Given the description of an element on the screen output the (x, y) to click on. 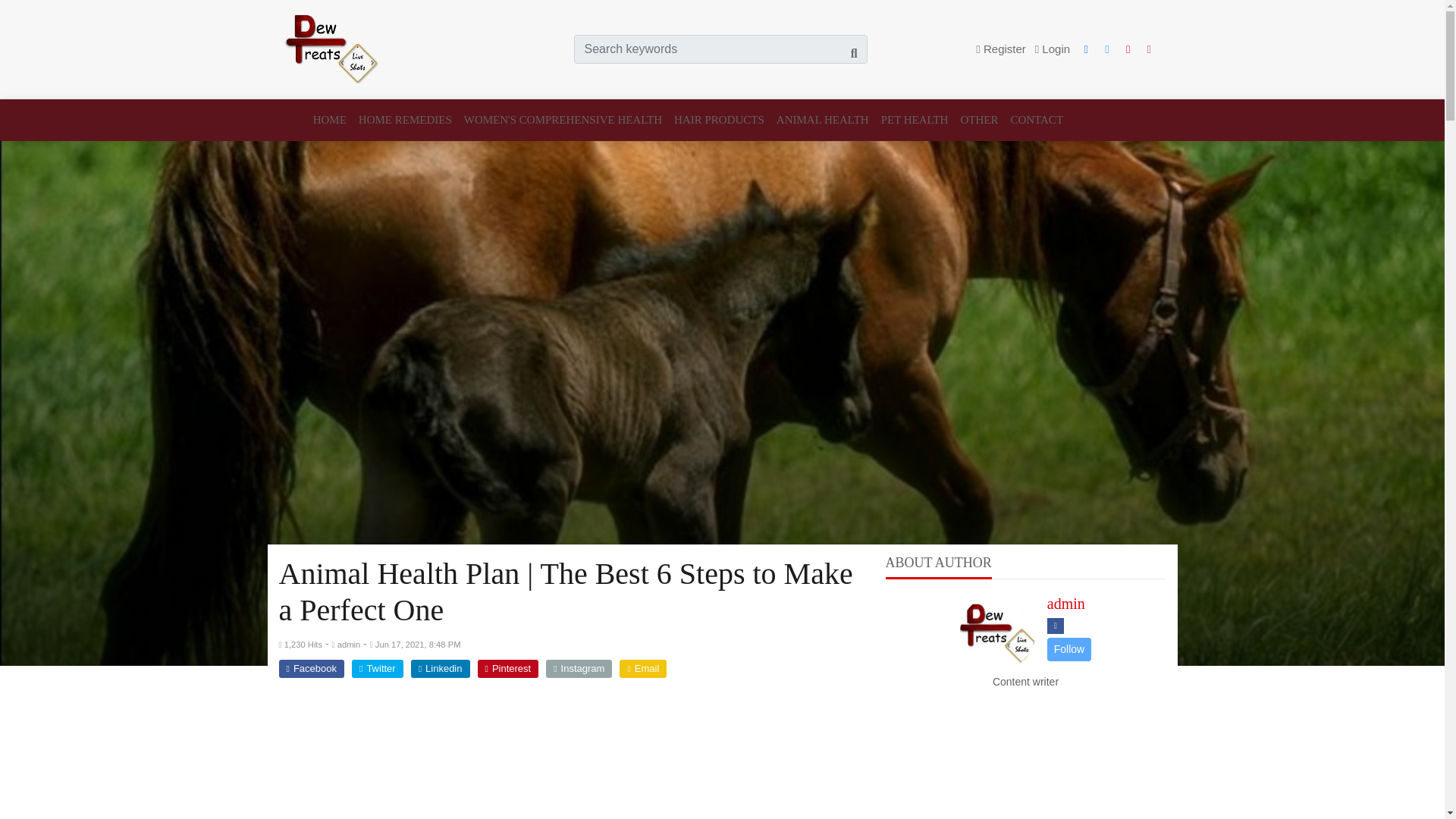
WOMEN'S COMPREHENSIVE HEALTH (563, 120)
Register (1000, 49)
PET HEALTH (915, 120)
Facebook (311, 669)
ANIMAL HEALTH (822, 120)
Twitter (377, 669)
Linkedin (440, 669)
Instagram (578, 669)
CONTACT (1033, 120)
HOME REMEDIES (405, 120)
Login (1052, 49)
HAIR PRODUCTS (719, 120)
via email (643, 669)
Follow (1068, 648)
HOME (332, 120)
